Given the description of an element on the screen output the (x, y) to click on. 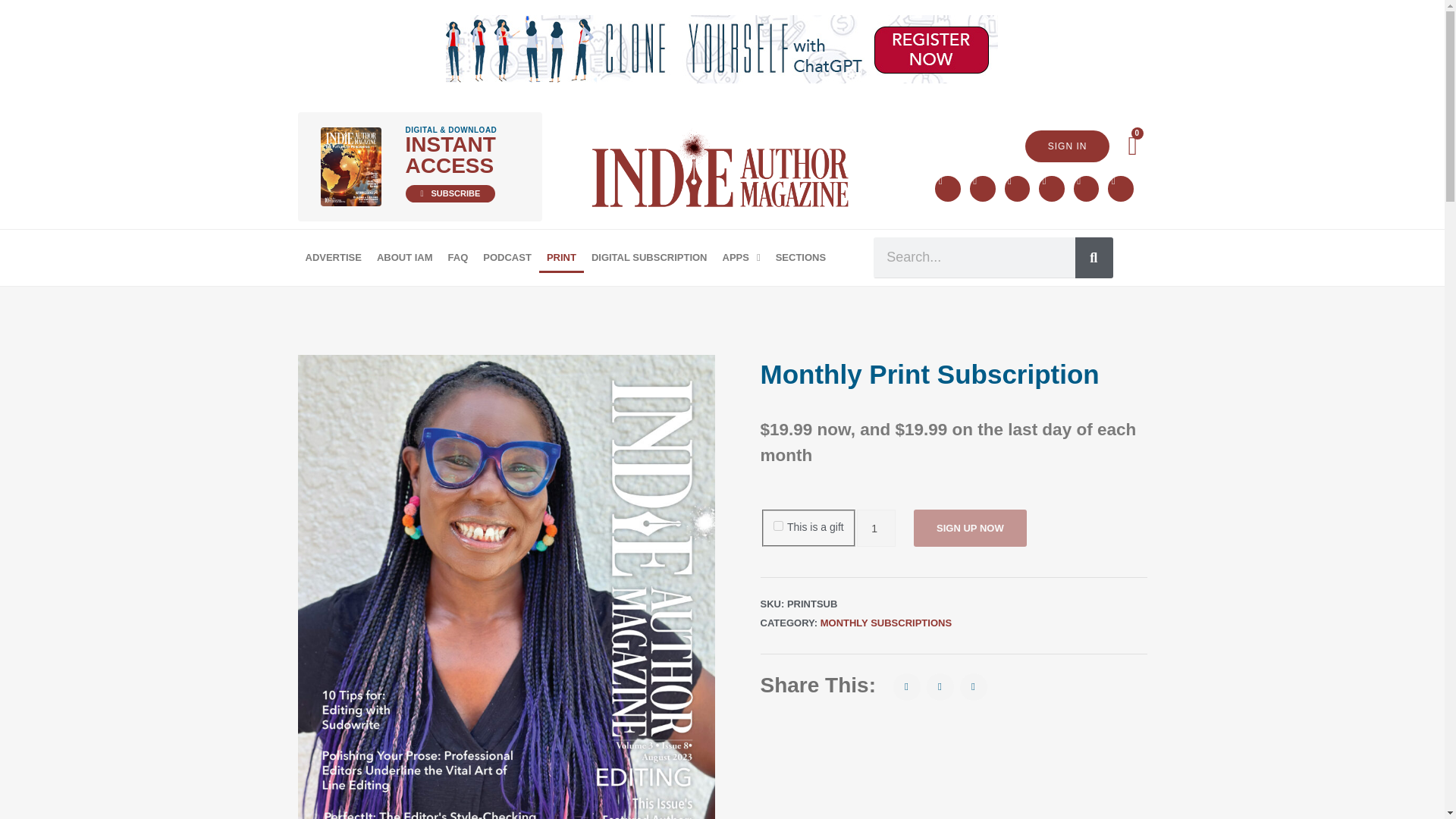
ABOUT IAM (405, 256)
APPS (741, 256)
Clone Yourself with ChatGPT (721, 49)
1 (876, 528)
ADVERTISE (332, 256)
gift (778, 525)
0 (1132, 145)
SUBSCRIBE (449, 193)
MONTHLY SUBSCRIPTIONS (886, 622)
DIGITAL SUBSCRIPTION (648, 256)
SECTIONS (800, 256)
PODCAST (507, 256)
FAQ (458, 256)
SIGN IN (1067, 146)
PRINT (560, 256)
